Given the description of an element on the screen output the (x, y) to click on. 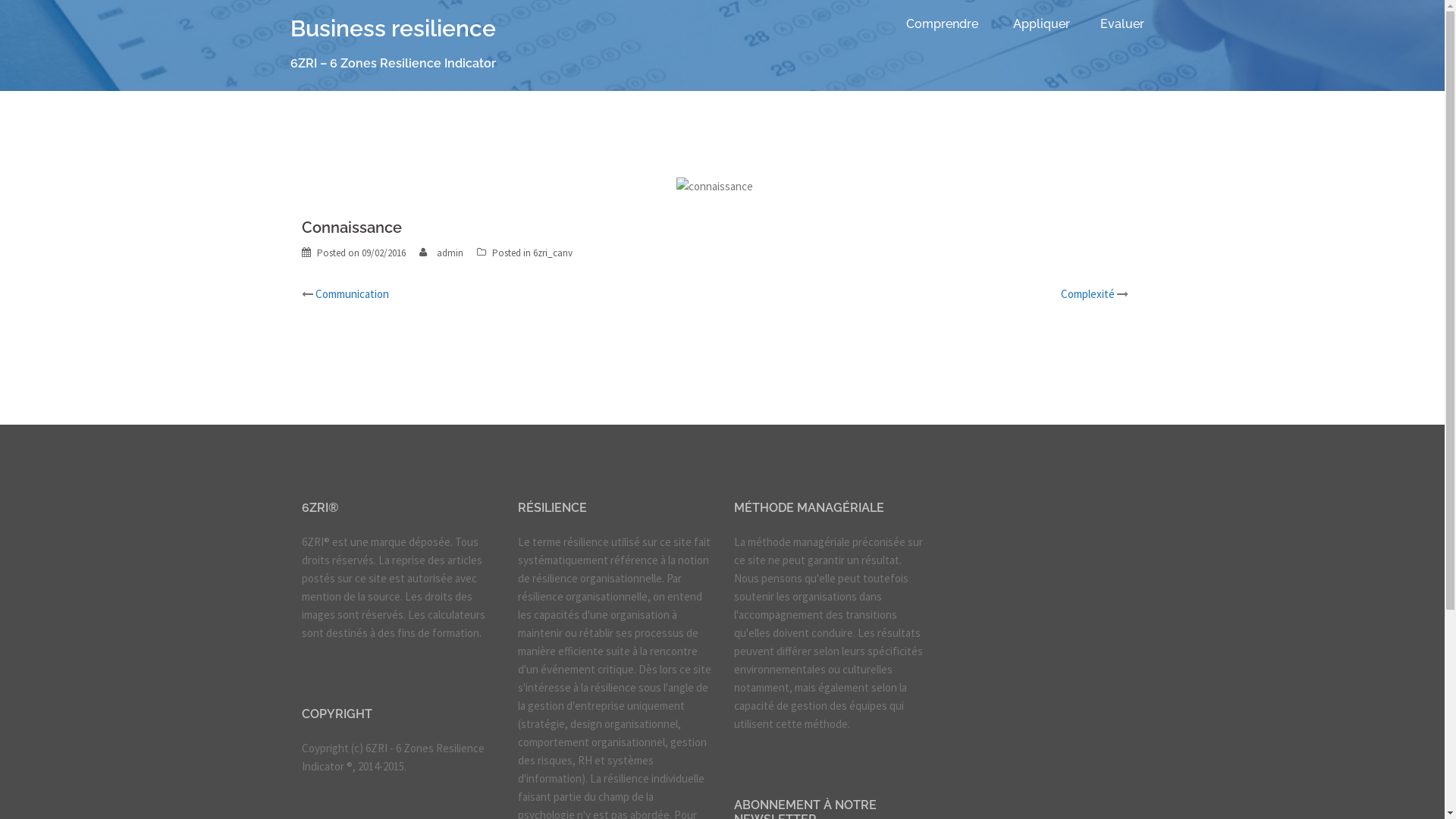
Appliquer Element type: text (1041, 24)
09/02/2016 Element type: text (382, 252)
Business resilience Element type: text (392, 28)
Comprendre Element type: text (941, 24)
Evaluer Element type: text (1121, 24)
Communication Element type: text (352, 293)
admin Element type: text (449, 252)
Skip to content Element type: text (0, 0)
6zri_canv Element type: text (551, 252)
